Given the description of an element on the screen output the (x, y) to click on. 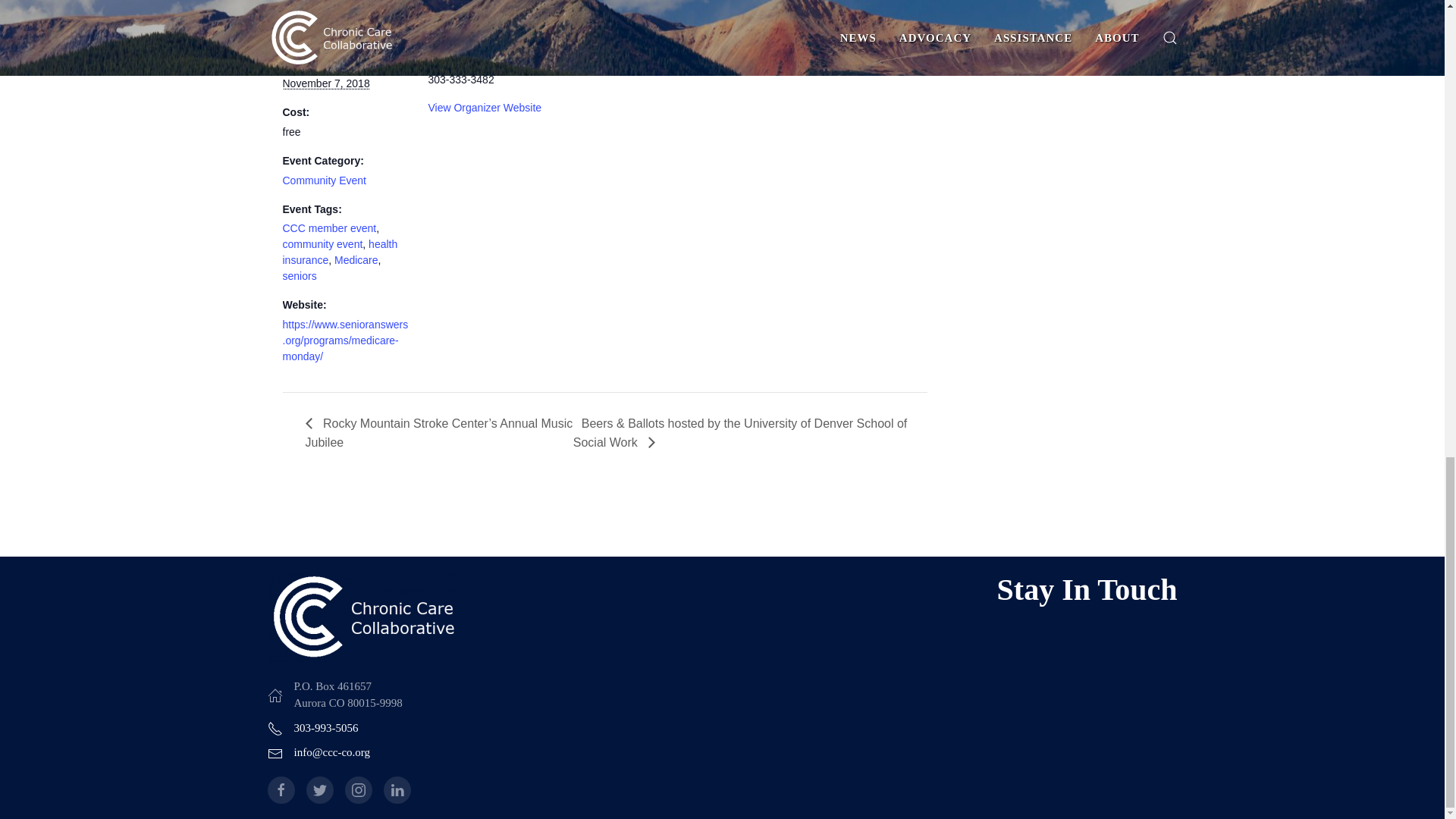
2018-10-15 (323, 35)
2018-11-07 (325, 82)
